Given the description of an element on the screen output the (x, y) to click on. 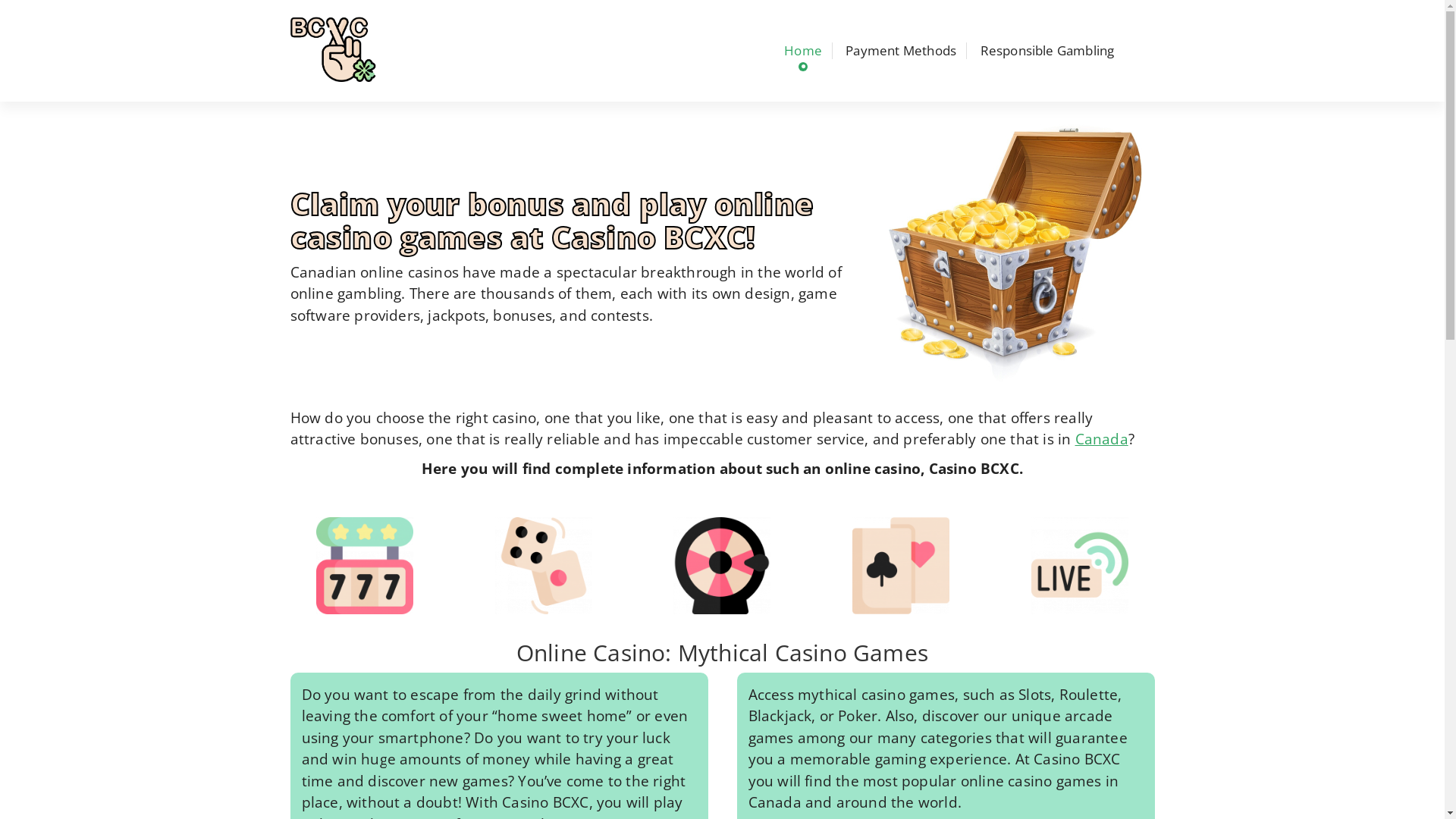
Responsible Gambling Element type: text (1046, 50)
Payment Methods Element type: text (900, 50)
Canada Element type: text (1101, 438)
Home Element type: text (802, 50)
